Given the description of an element on the screen output the (x, y) to click on. 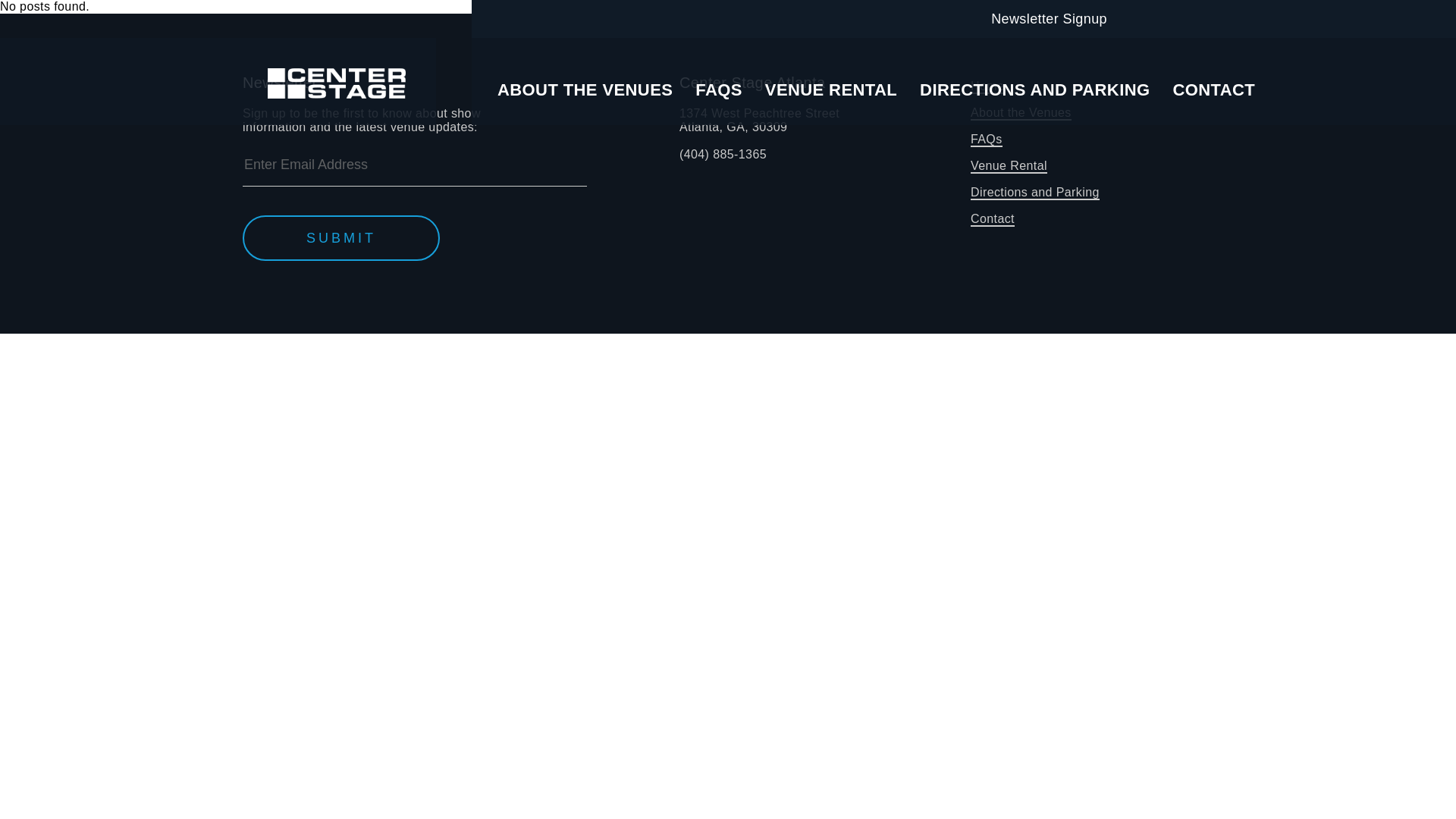
CONTACT (1213, 89)
About the Venues (1021, 113)
VENUE RENTAL (830, 89)
Directions and Parking (1035, 192)
FAQS (718, 89)
DIRECTIONS AND PARKING (1035, 89)
FAQs (987, 139)
Home (987, 86)
Newsletter Signup (1045, 18)
Venue Rental (1008, 165)
ABOUT THE VENUES (584, 89)
SUBMIT (759, 120)
Contact (341, 238)
